Given the description of an element on the screen output the (x, y) to click on. 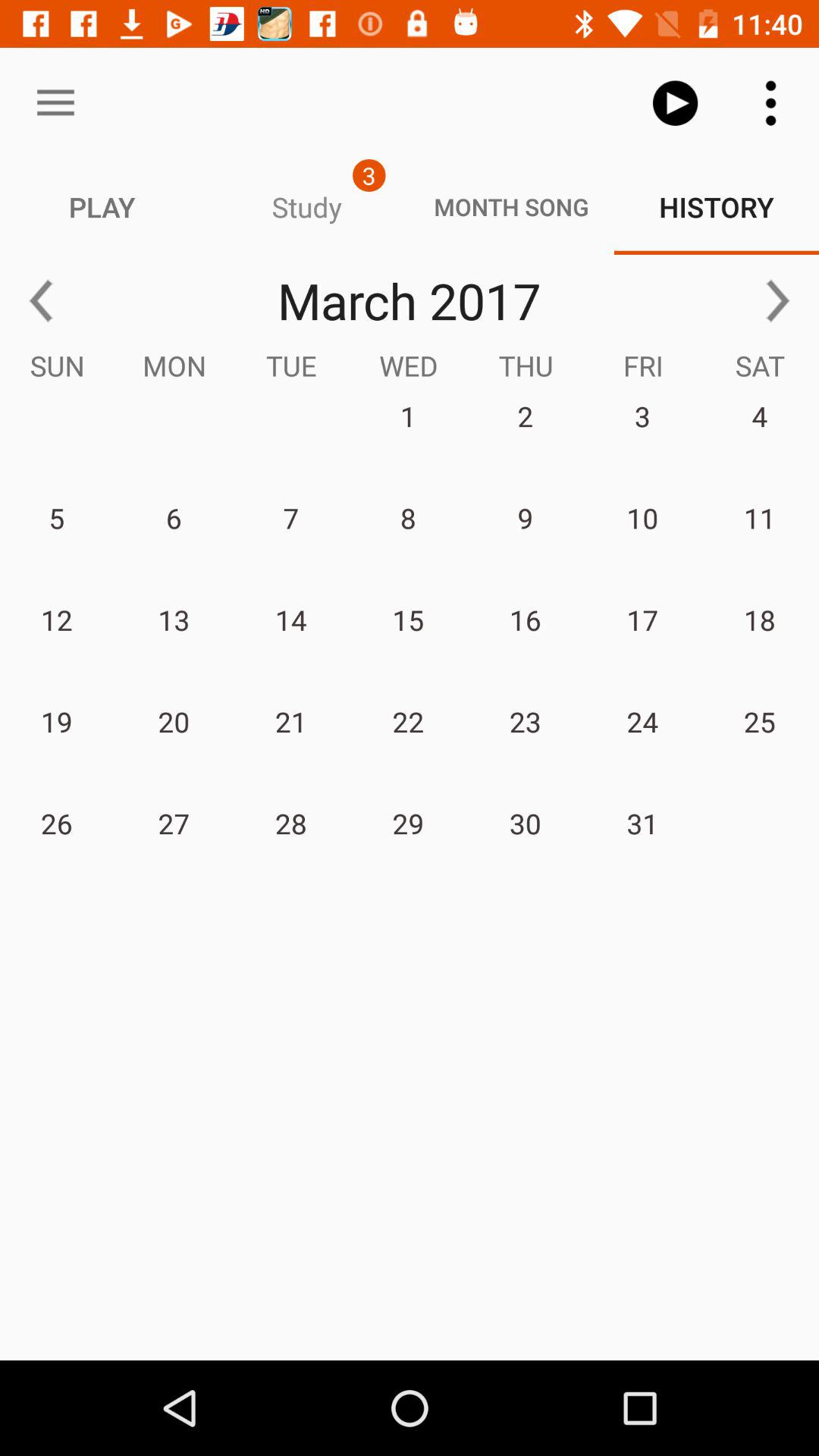
scroll month left (40, 300)
